Given the description of an element on the screen output the (x, y) to click on. 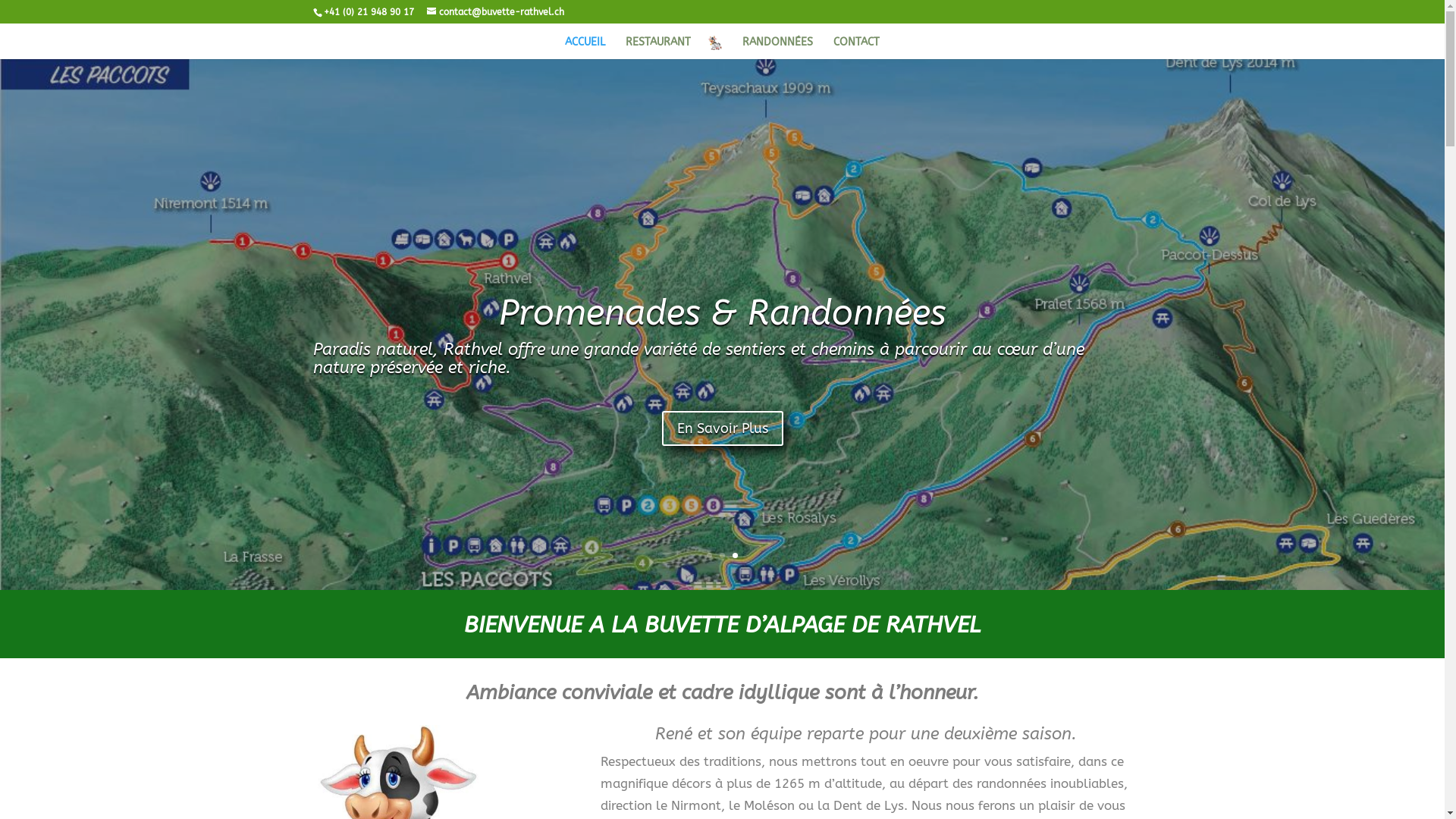
En Savoir Plus Element type: text (721, 413)
CONTACT Element type: text (856, 48)
3 Element type: text (734, 555)
contact@buvette-rathvel.ch Element type: text (494, 11)
RESTAURANT Element type: text (657, 48)
2 Element type: text (721, 555)
1 Element type: text (709, 555)
ACCUEIL Element type: text (584, 48)
